Given the description of an element on the screen output the (x, y) to click on. 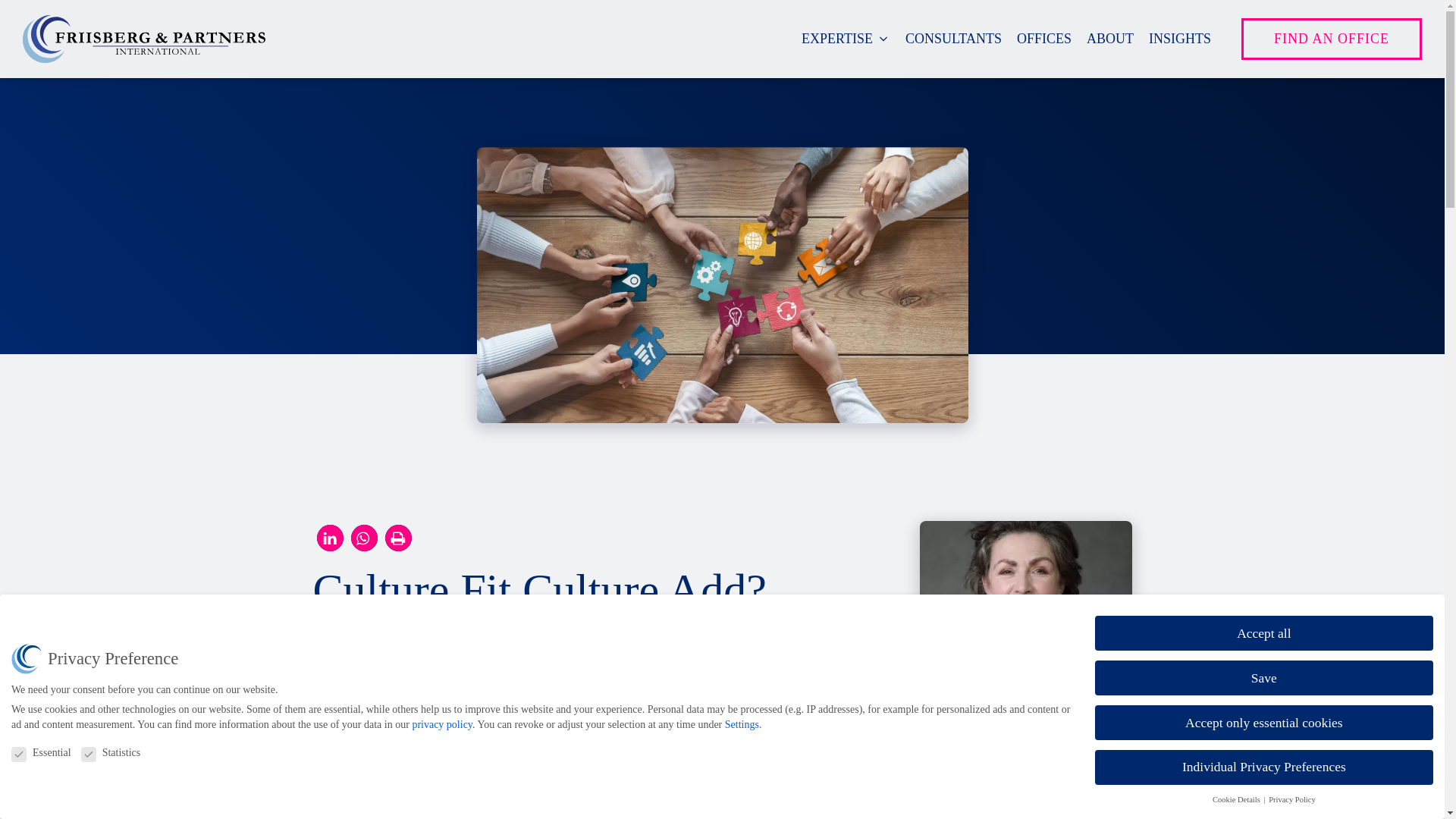
CONSULTANTS (953, 38)
Share on LinkedIn (330, 537)
LEARN MORE (973, 816)
Share on Whatsapp (363, 537)
INSIGHTS (1179, 38)
FIND AN OFFICE (1331, 38)
print (398, 537)
ABOUT (1110, 38)
OFFICES (1043, 38)
EXPERTISE (845, 38)
